Given the description of an element on the screen output the (x, y) to click on. 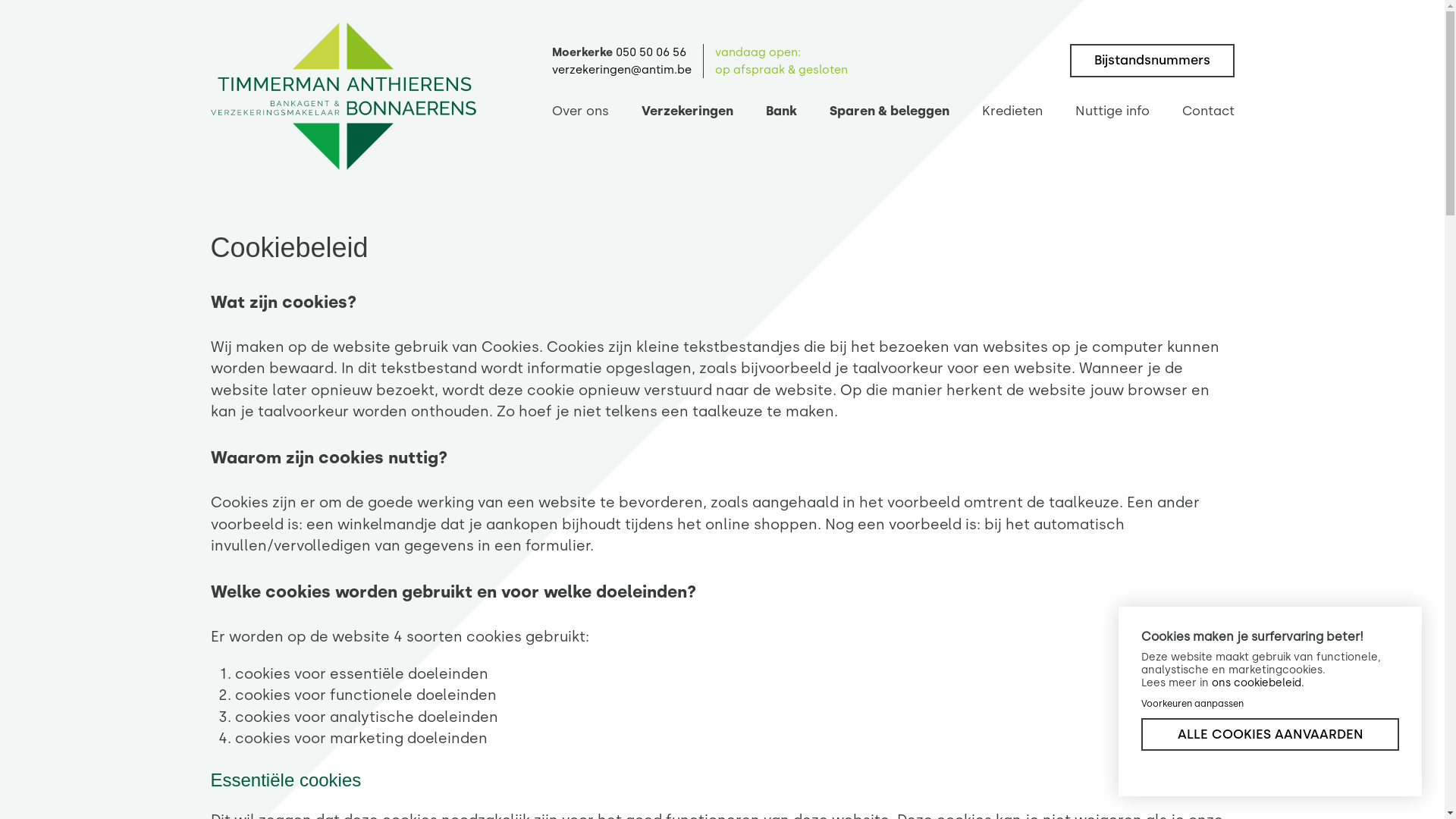
ons cookiebeleid. Element type: text (1257, 682)
Over ons Element type: text (580, 112)
Contact Element type: text (1207, 112)
Nuttige info Element type: text (1112, 112)
Voorkeuren aanpassen Element type: text (1192, 703)
verzekeringen@antim.be Element type: text (621, 68)
Sparen & beleggen Element type: text (889, 112)
Kredieten Element type: text (1011, 112)
050 50 06 56 Element type: text (650, 52)
ALLE COOKIES AANVAARDEN Element type: text (1270, 733)
Verzekeringen Element type: text (687, 112)
Bank Element type: text (781, 112)
Bijstandsnummers Element type: text (1151, 60)
